Given the description of an element on the screen output the (x, y) to click on. 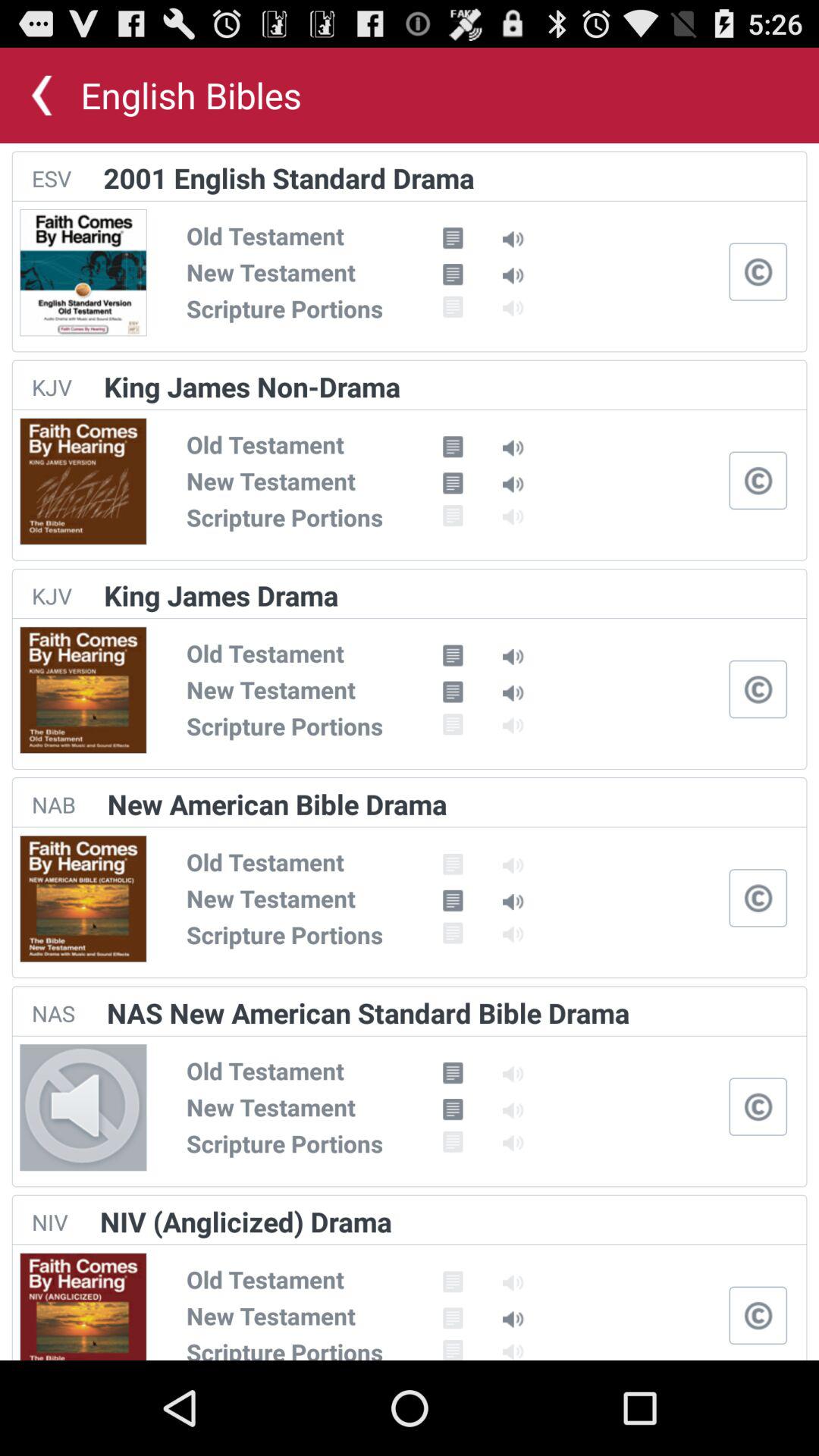
tap the app to the left of 2001 english standard app (51, 178)
